Given the description of an element on the screen output the (x, y) to click on. 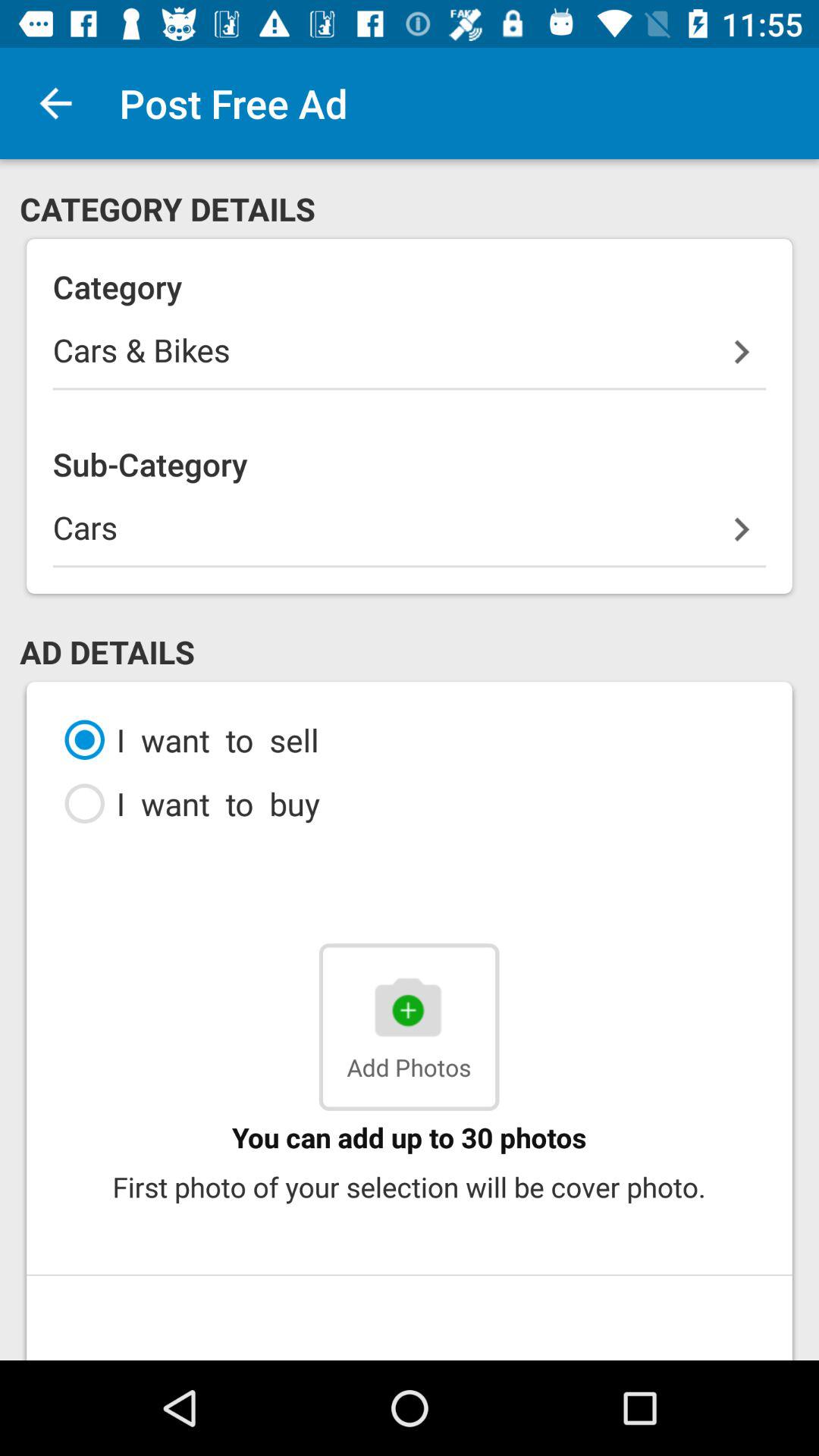
choose item to the left of the post free ad (55, 103)
